Given the description of an element on the screen output the (x, y) to click on. 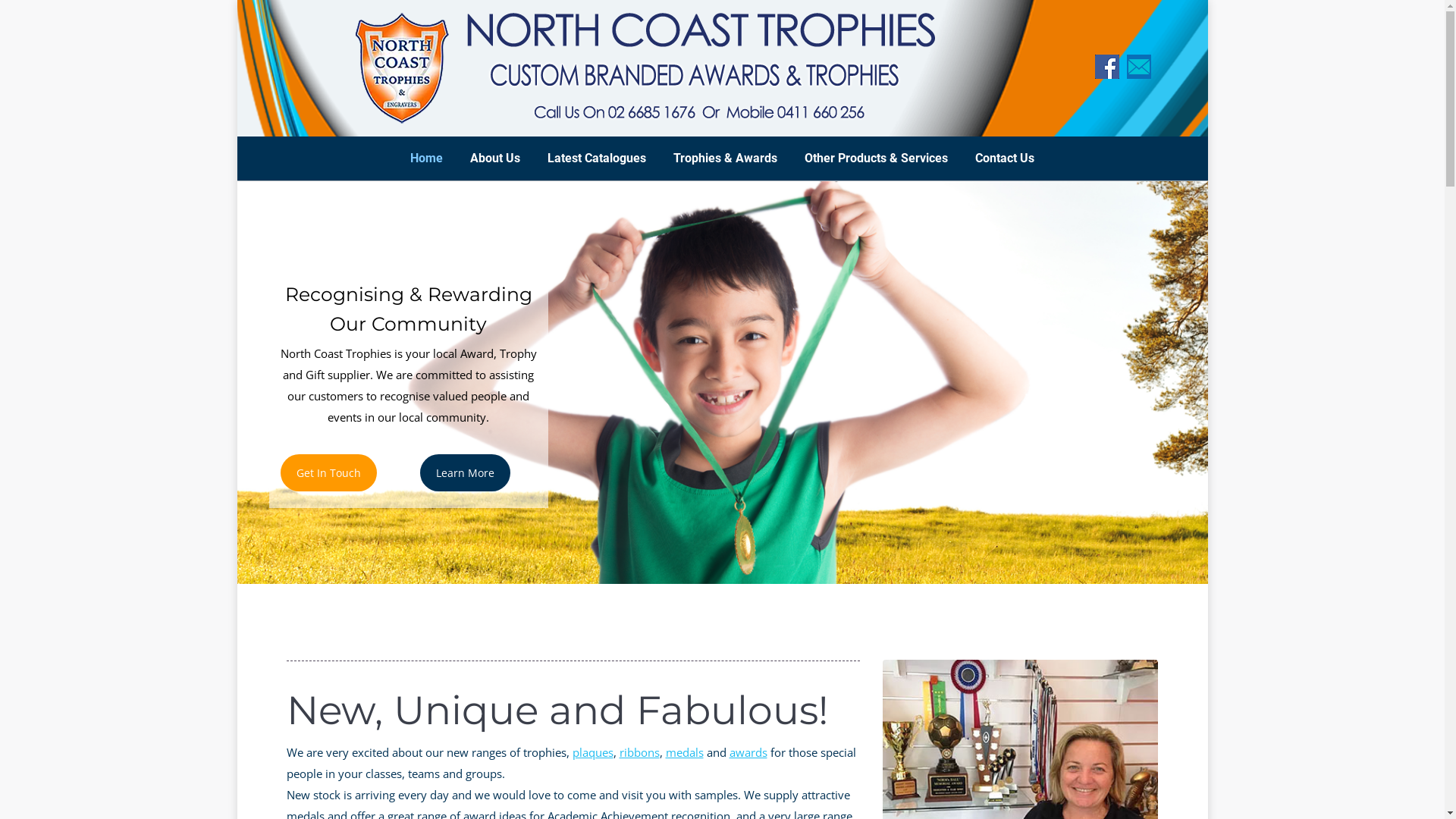
plaques Element type: text (591, 751)
Contact Us Element type: text (1004, 158)
ribbons Element type: text (638, 751)
Get In Touch Element type: text (328, 472)
awards Element type: text (748, 751)
medals Element type: text (684, 751)
Learn More Element type: text (465, 472)
Home Element type: text (426, 158)
Latest Catalogues Element type: text (596, 158)
About Us Element type: text (495, 158)
Trophies & Awards Element type: text (725, 158)
Other Products & Services Element type: text (875, 158)
